Given the description of an element on the screen output the (x, y) to click on. 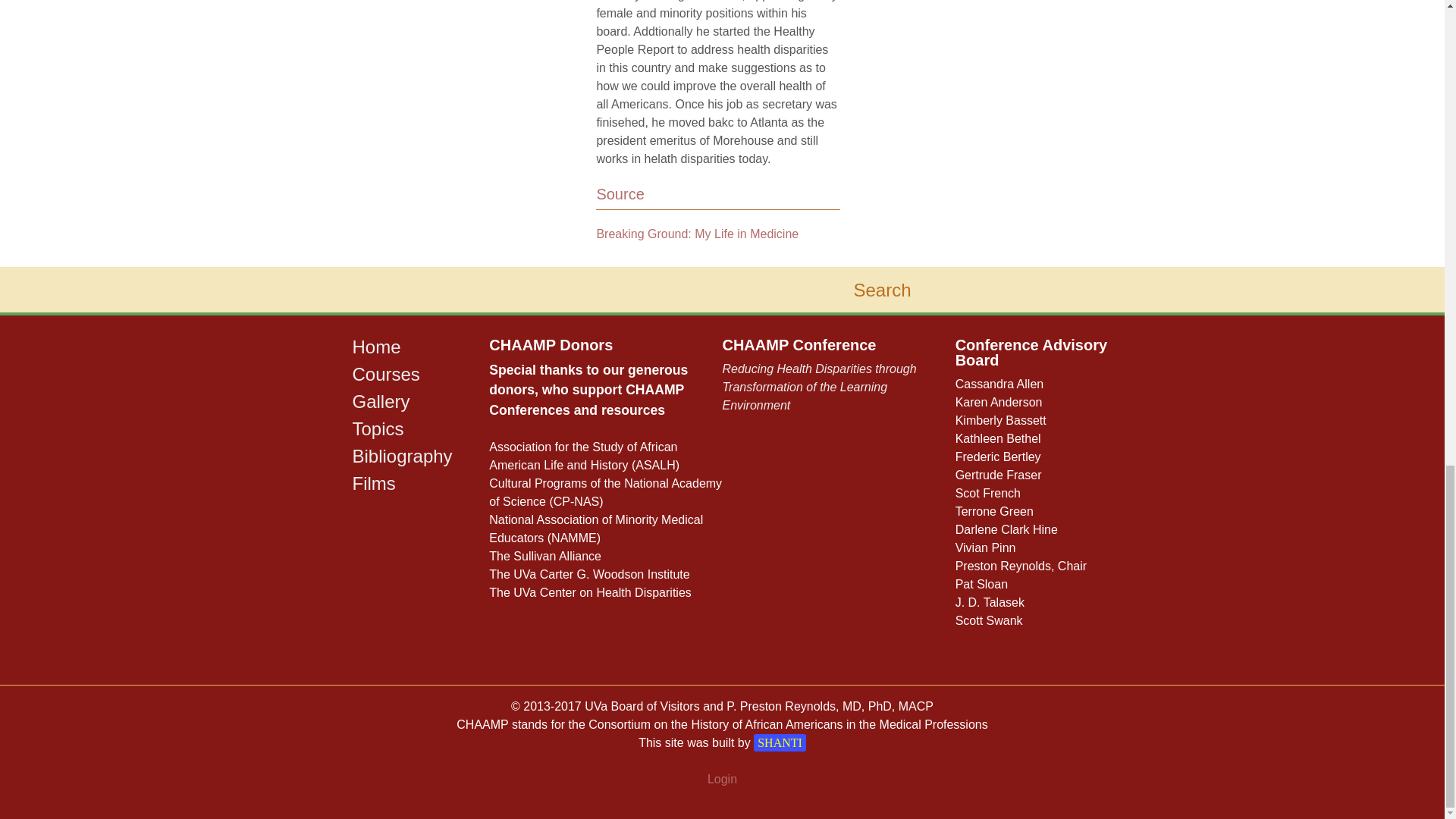
Courses (385, 373)
Login (721, 779)
Search (945, 290)
Gallery (380, 401)
Films (373, 483)
Home (376, 346)
SHANTI (780, 742)
Topics (377, 428)
